Given the description of an element on the screen output the (x, y) to click on. 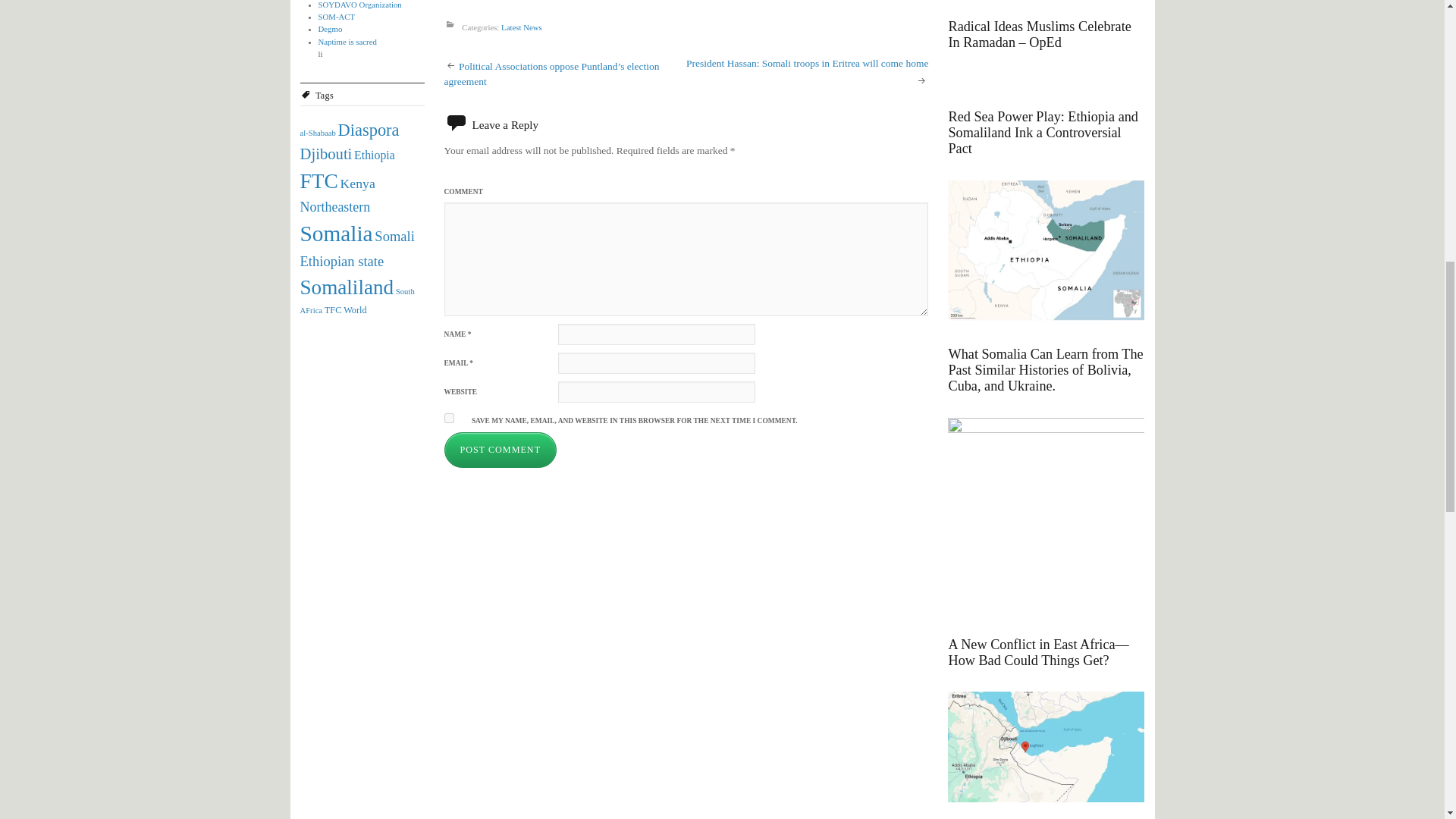
Northeastern (335, 206)
FTC (318, 180)
Djibouti (325, 153)
yes (449, 418)
Post Comment (500, 449)
World (354, 309)
SOYDAVO Organization (359, 4)
Diaspora (367, 129)
TFC (333, 309)
SOM-ACT (336, 16)
